Given the description of an element on the screen output the (x, y) to click on. 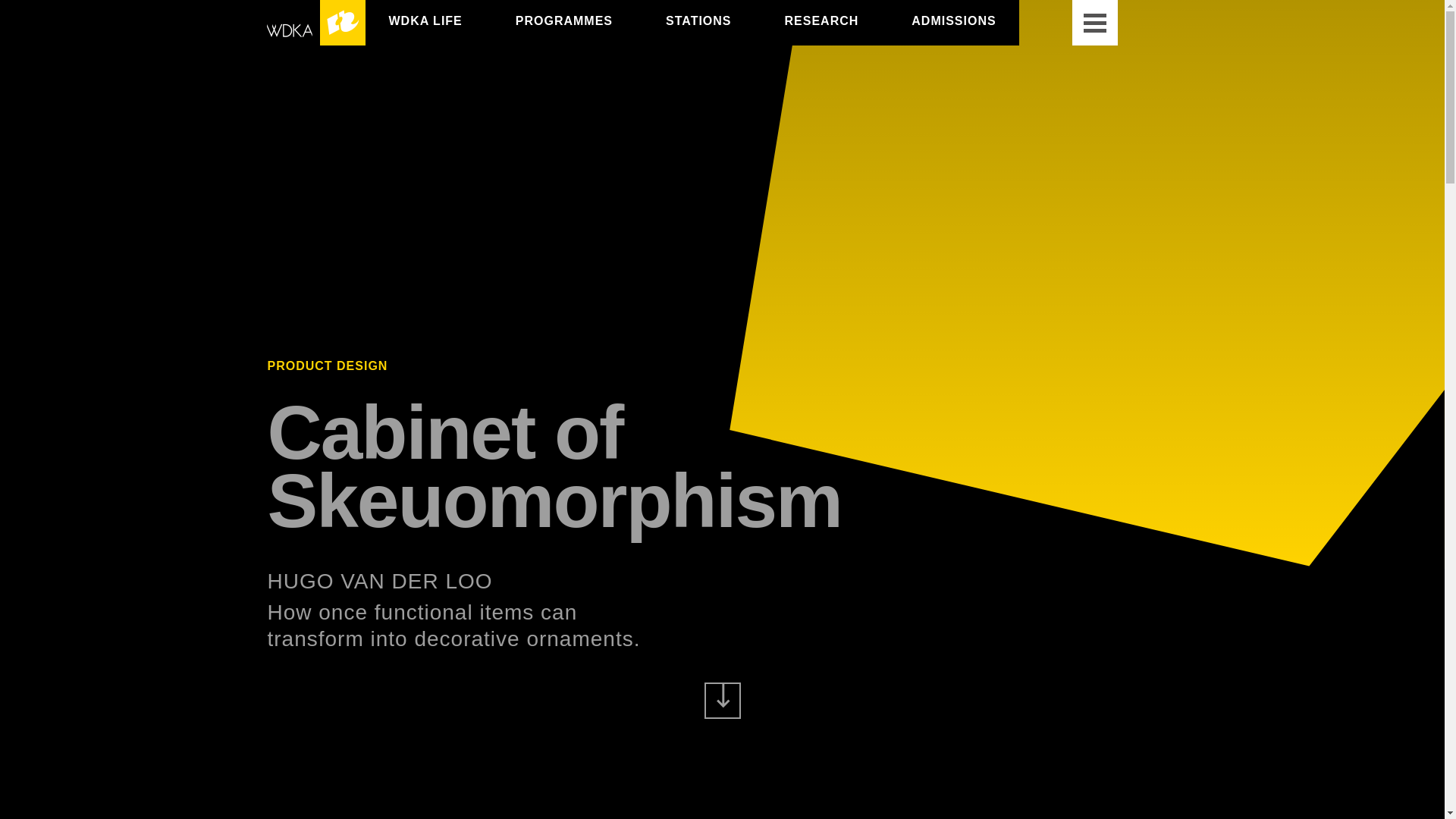
WdKA Life (424, 20)
Stations (698, 20)
RESEARCH (821, 20)
STATIONS (698, 20)
WDKA LIFE (424, 20)
ADMISSIONS (953, 20)
Programmes (563, 20)
Willem de Kooning Academie Homepage (315, 22)
Research (821, 20)
Admissions (953, 20)
Willem de Kooning Academie (315, 22)
PRODUCT DESIGN (326, 365)
PROGRAMMES (563, 20)
